Given the description of an element on the screen output the (x, y) to click on. 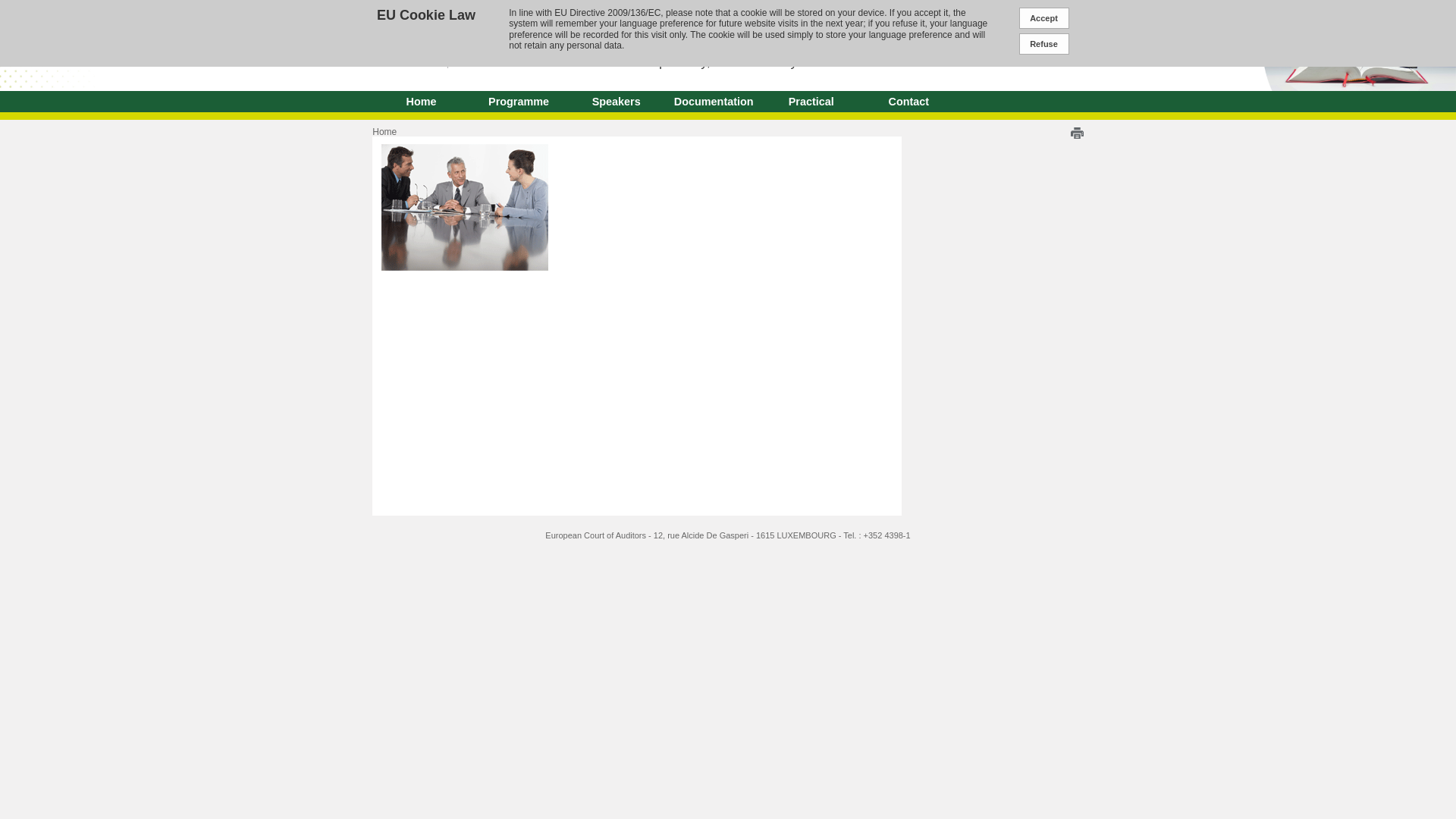
Print page (1076, 132)
European court of auditors (411, 41)
Speakers (615, 101)
Accept (1043, 17)
Documentation (713, 101)
Contact (908, 101)
Refuse (1043, 43)
Practical (810, 101)
Programme (518, 101)
Home (420, 101)
